Given the description of an element on the screen output the (x, y) to click on. 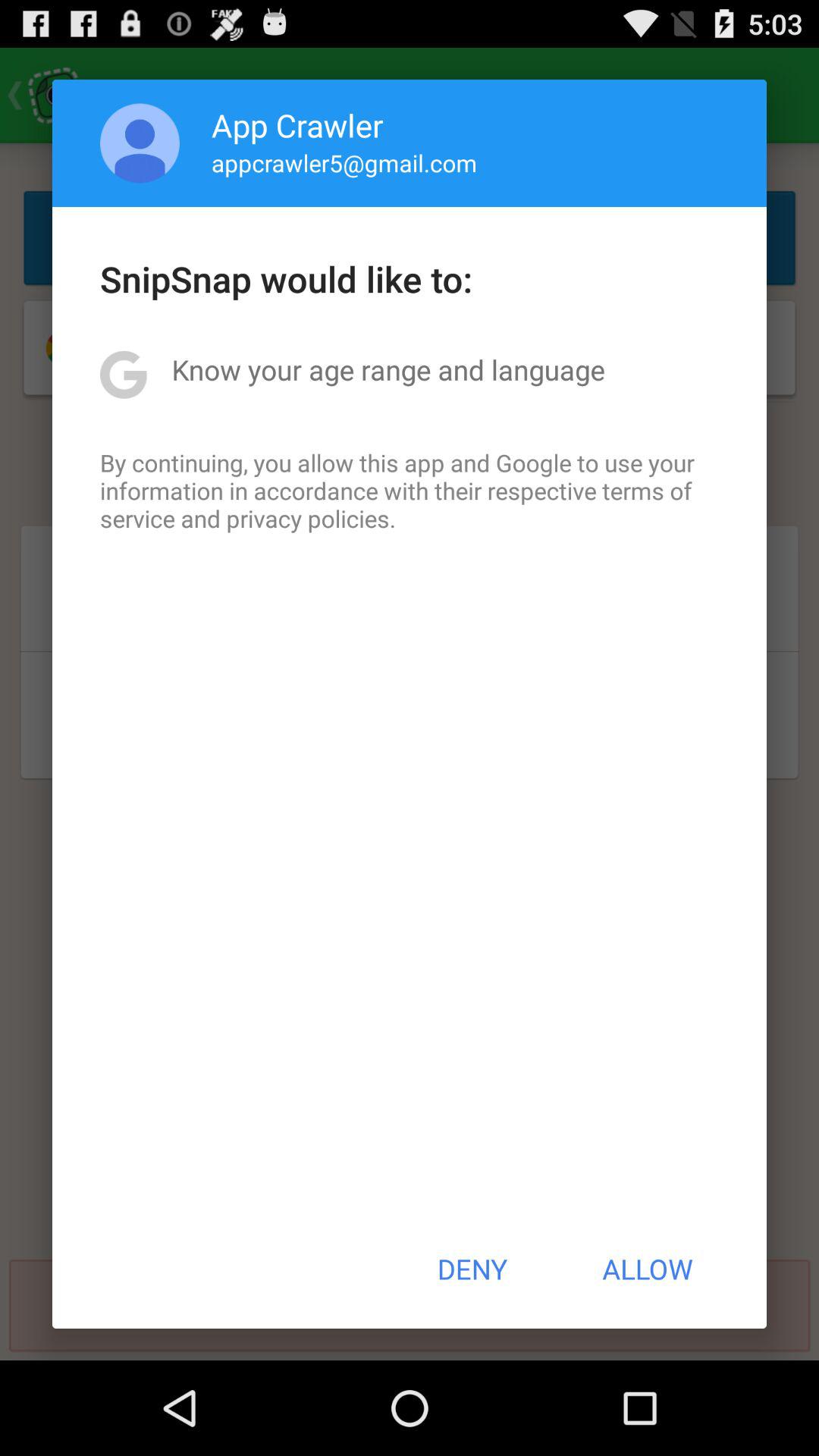
tap icon above by continuing you item (388, 369)
